Given the description of an element on the screen output the (x, y) to click on. 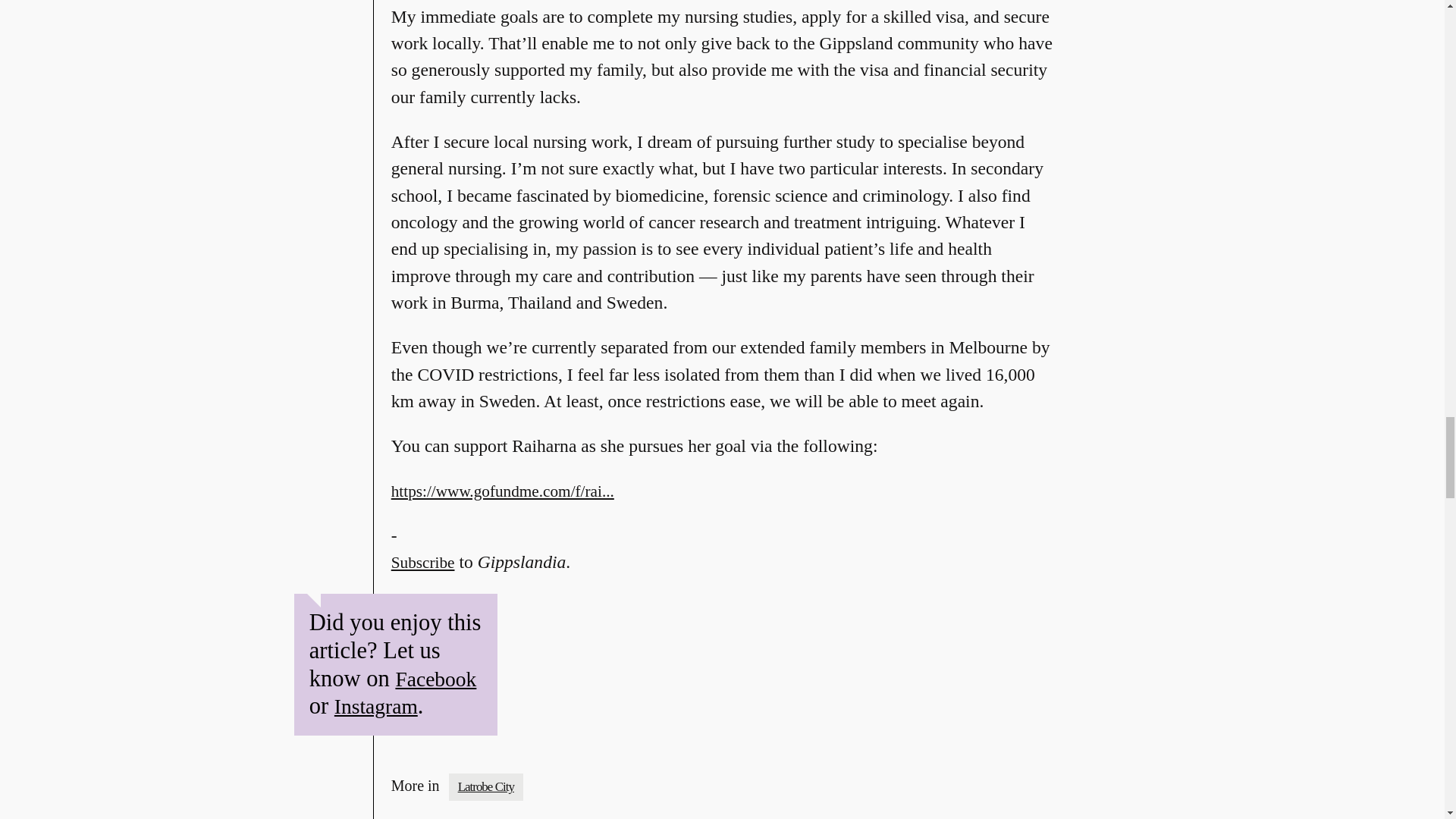
Latrobe City (485, 786)
Facebook (435, 679)
Instagram (375, 706)
Subscribe (422, 575)
